Given the description of an element on the screen output the (x, y) to click on. 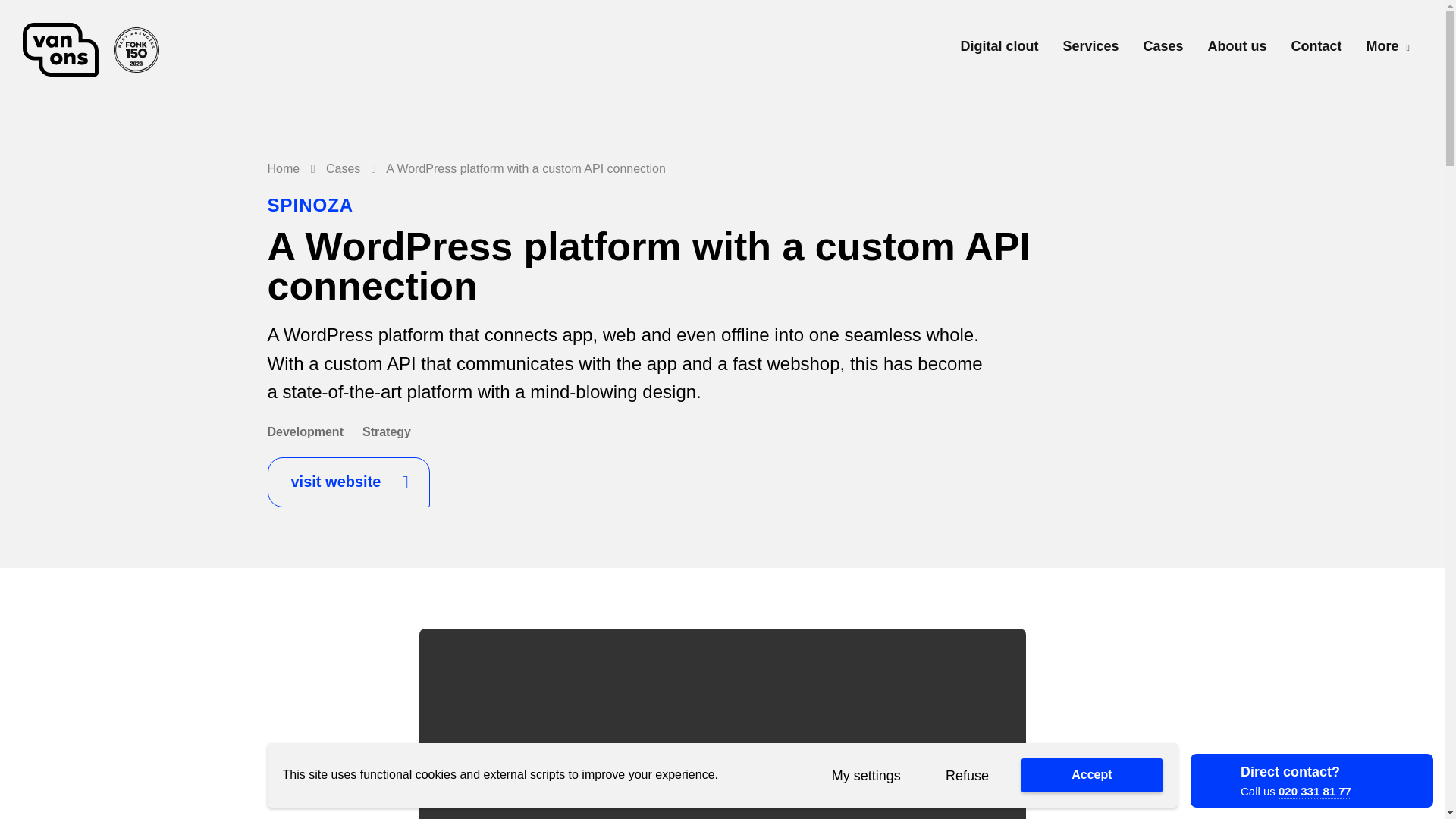
Cases (342, 168)
My settings (865, 775)
Refuse (966, 775)
Accept (1091, 775)
Development (304, 431)
Home (282, 168)
Digital clout (998, 50)
About us (1237, 50)
Contact (1316, 50)
visit website (347, 481)
Cases (1162, 50)
More (1388, 46)
From Our Digital Agency (98, 49)
Strategy (386, 431)
Services (1090, 50)
